Given the description of an element on the screen output the (x, y) to click on. 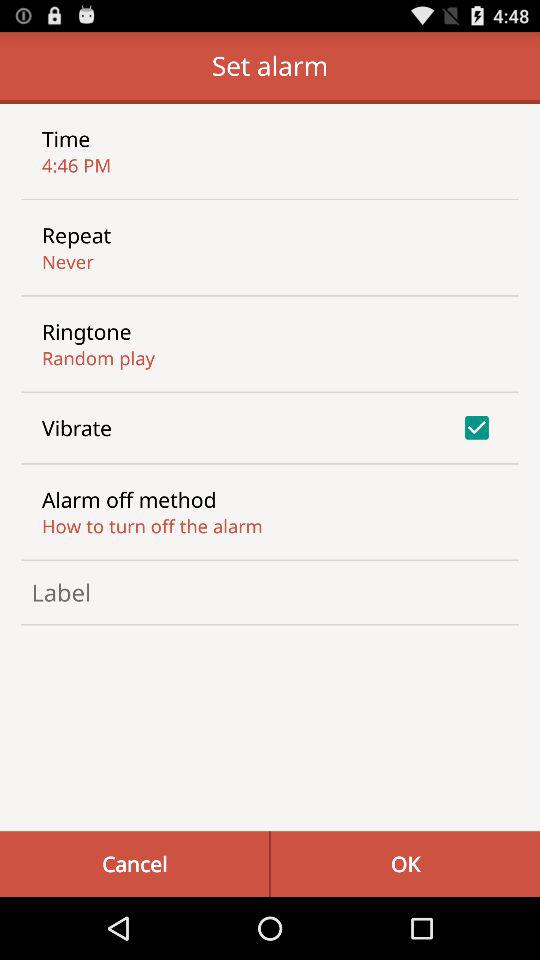
swipe to ringtone (86, 331)
